Given the description of an element on the screen output the (x, y) to click on. 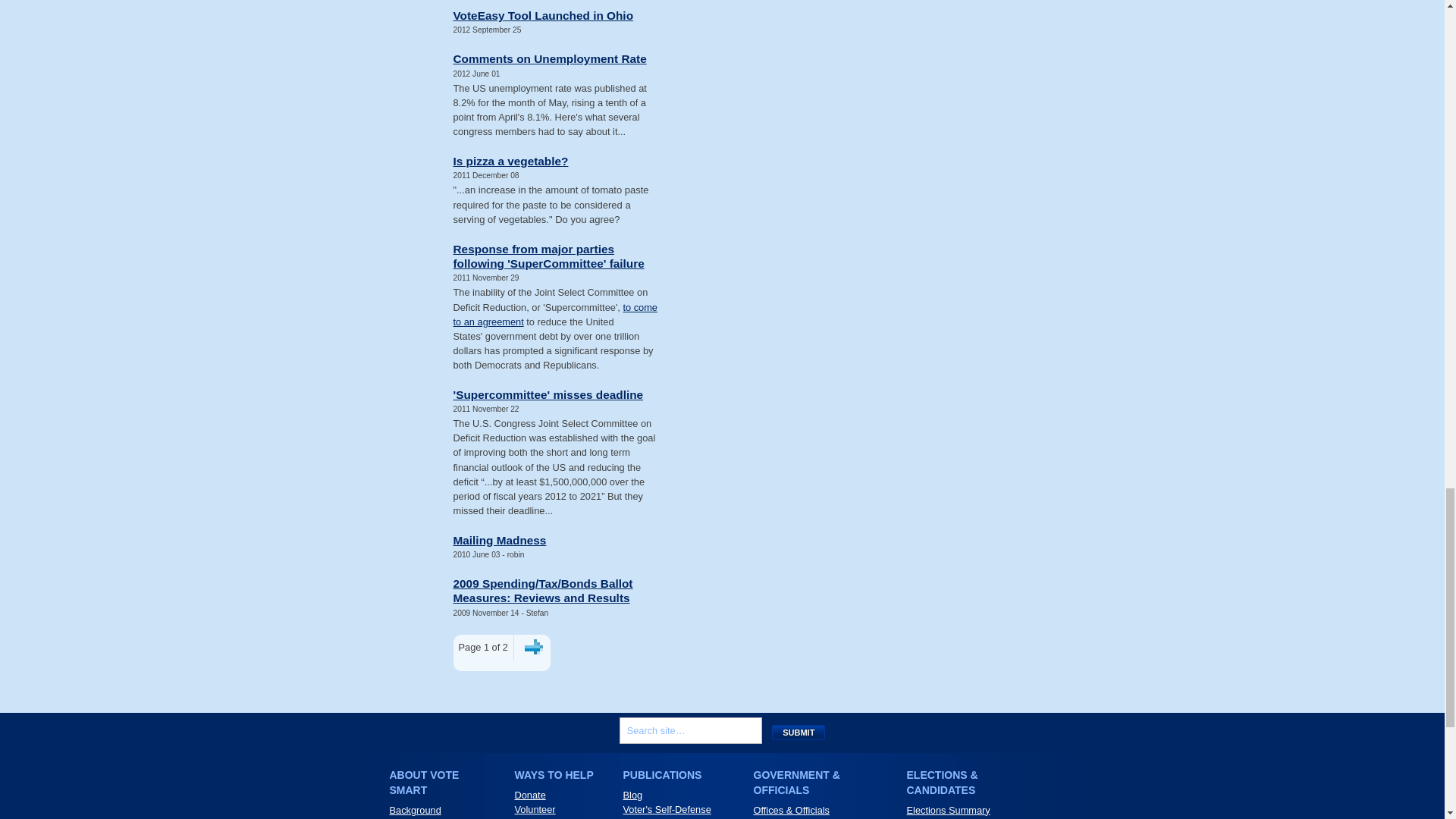
View this post (542, 590)
View this post (549, 58)
View this post (548, 256)
SUBMIT (798, 732)
View this post (499, 540)
Search site.. (690, 730)
View this post (510, 160)
View this post (547, 394)
View this post (542, 15)
